Given the description of an element on the screen output the (x, y) to click on. 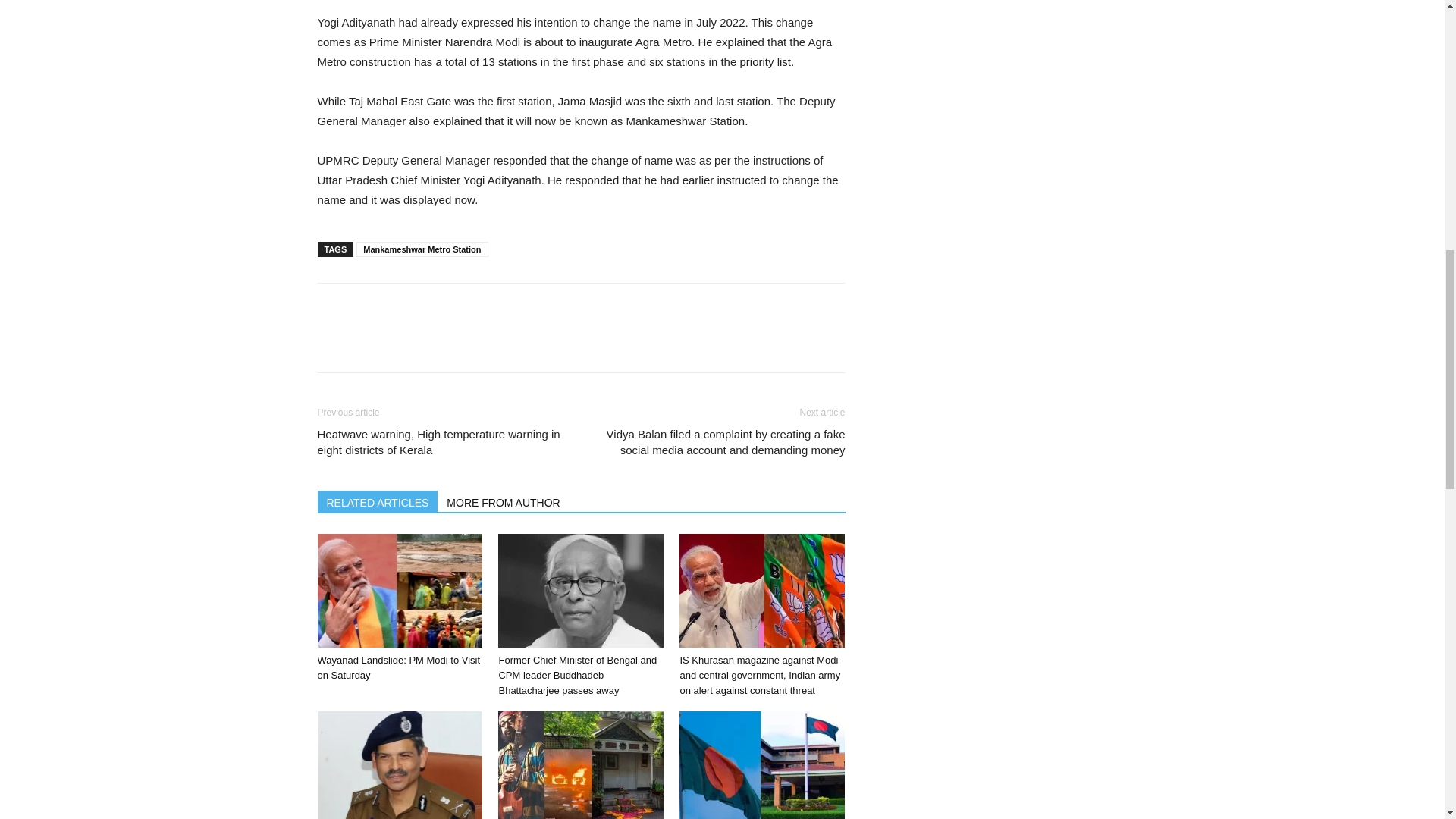
Wayanad Landslide: PM Modi to Visit on Saturday (399, 590)
Wayanad Landslide: PM Modi to Visit on Saturday (398, 667)
